Given the description of an element on the screen output the (x, y) to click on. 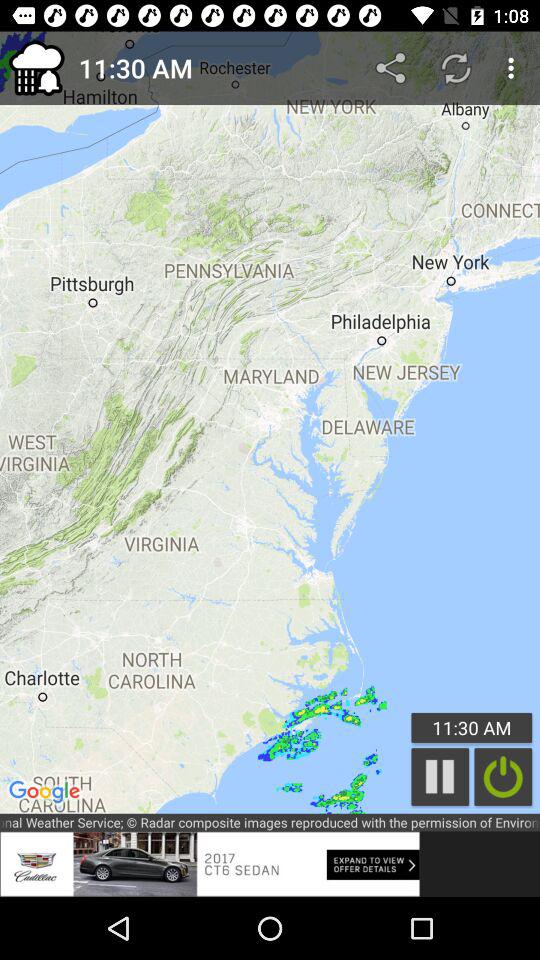
rain alarm search botton (503, 776)
